Given the description of an element on the screen output the (x, y) to click on. 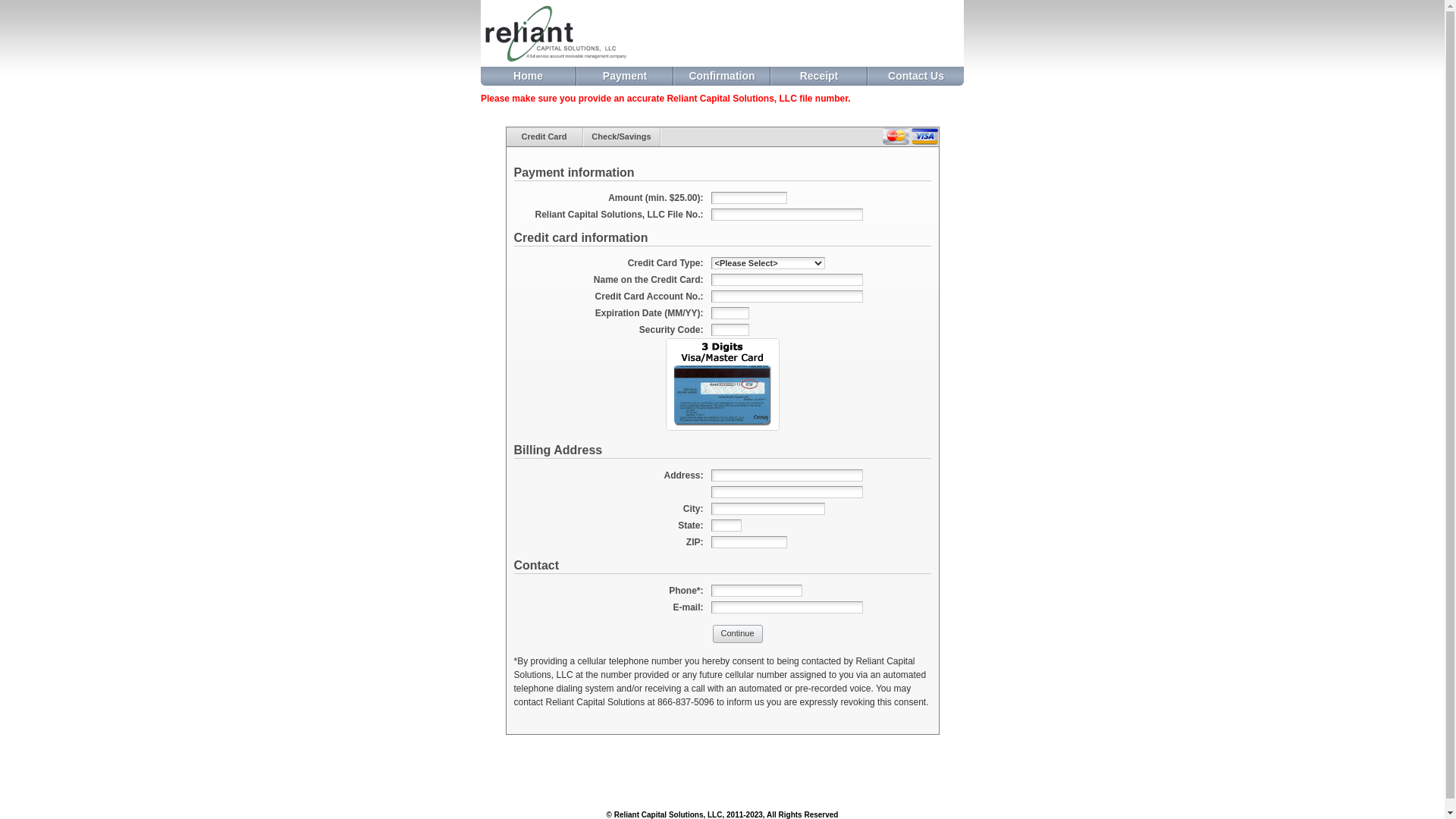
Check/Savings Element type: text (621, 136)
Continue Element type: text (737, 633)
Confirmation Element type: text (721, 75)
Home Element type: text (527, 75)
Payment Element type: text (624, 75)
Receipt Element type: text (818, 75)
Contact Us Element type: text (915, 75)
Credit Card Element type: text (544, 136)
